Given the description of an element on the screen output the (x, y) to click on. 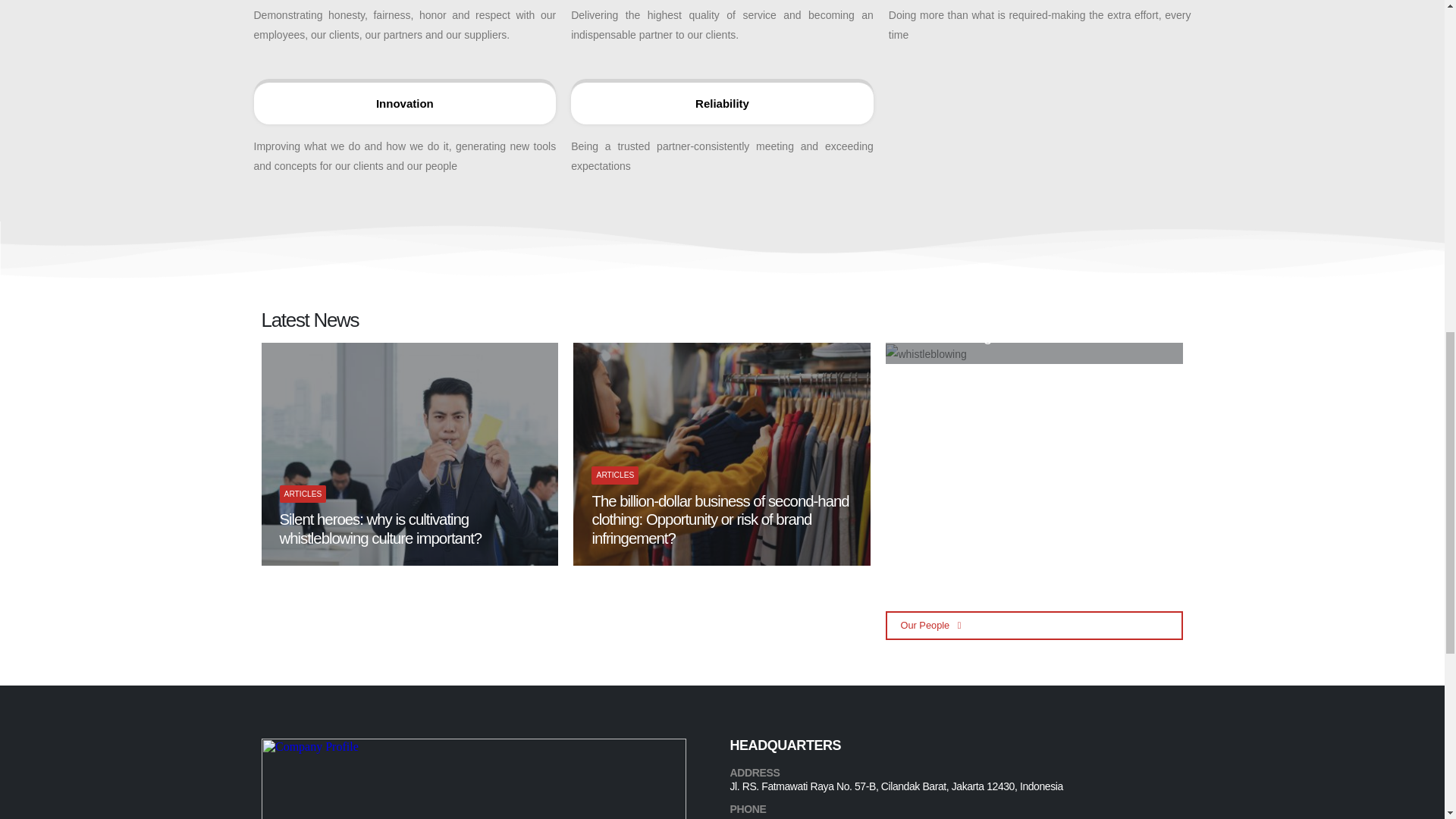
Our People (1033, 624)
Integrity Indonesia - Company Profile (472, 778)
